Given the description of an element on the screen output the (x, y) to click on. 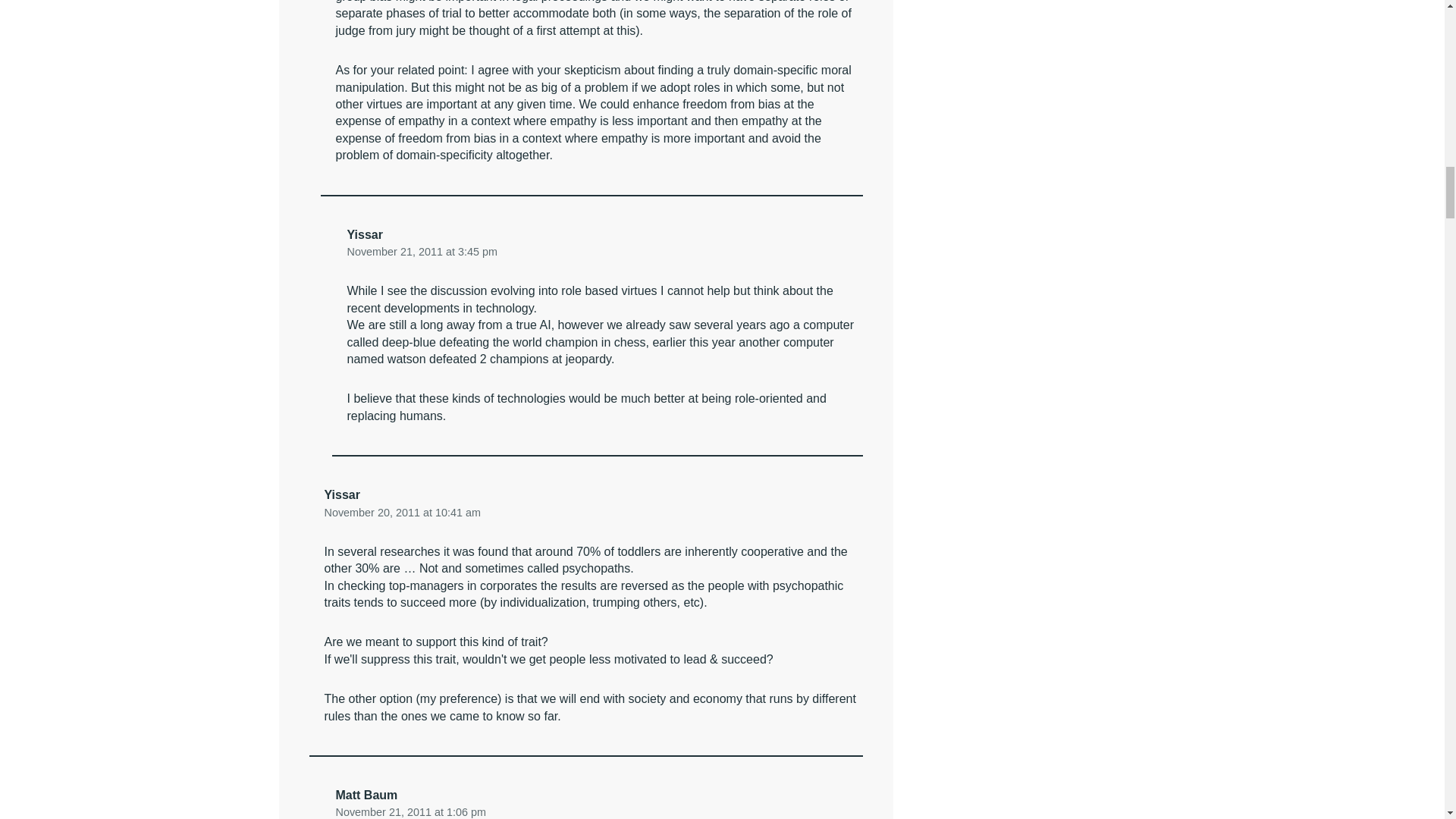
November 21, 2011 at 3:45 pm (422, 251)
November 20, 2011 at 10:41 am (402, 511)
November 21, 2011 at 1:06 pm (409, 811)
